Given the description of an element on the screen output the (x, y) to click on. 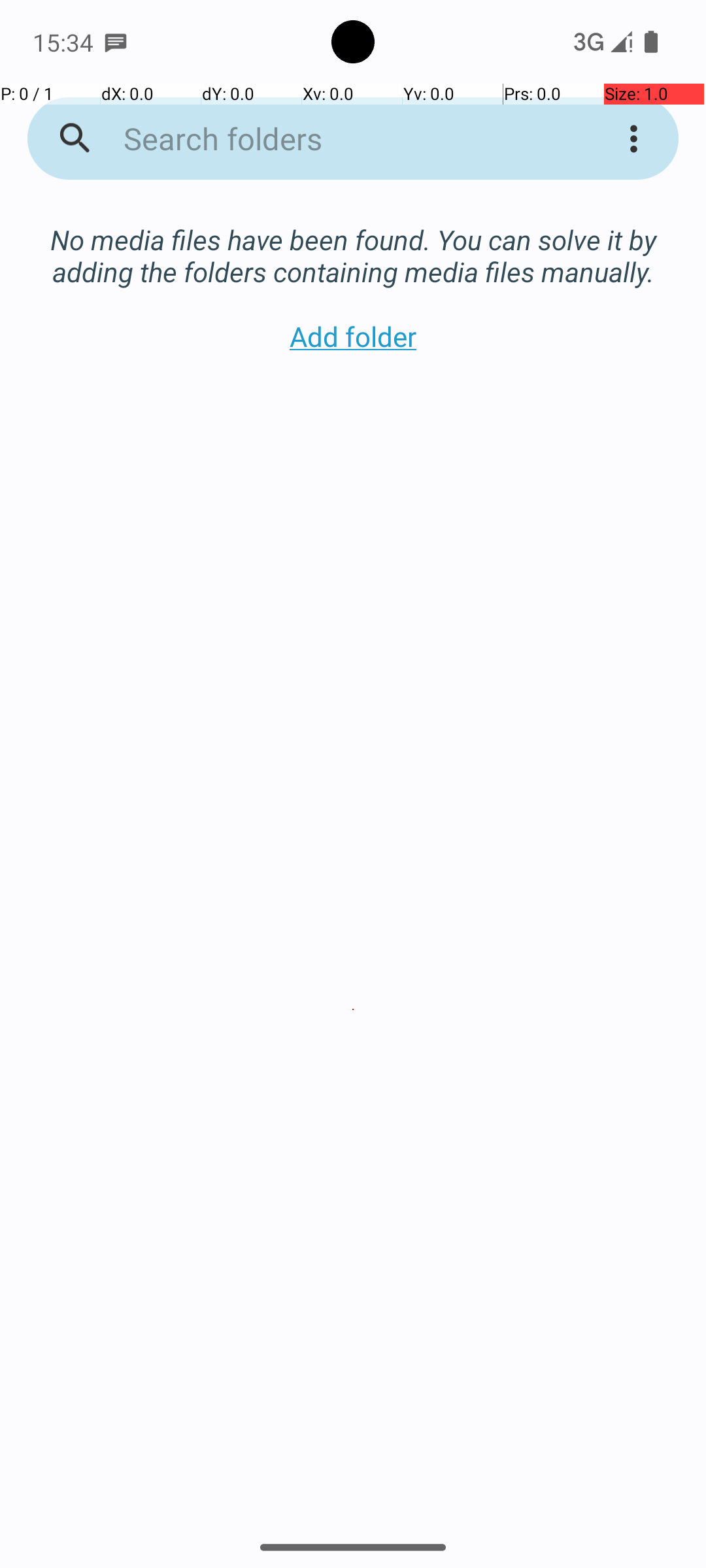
No media files have been found. You can solve it by adding the folders containing media files manually. Element type: android.widget.TextView (353, 241)
Add folder Element type: android.widget.TextView (352, 336)
Search folders Element type: android.widget.EditText (335, 138)
